Given the description of an element on the screen output the (x, y) to click on. 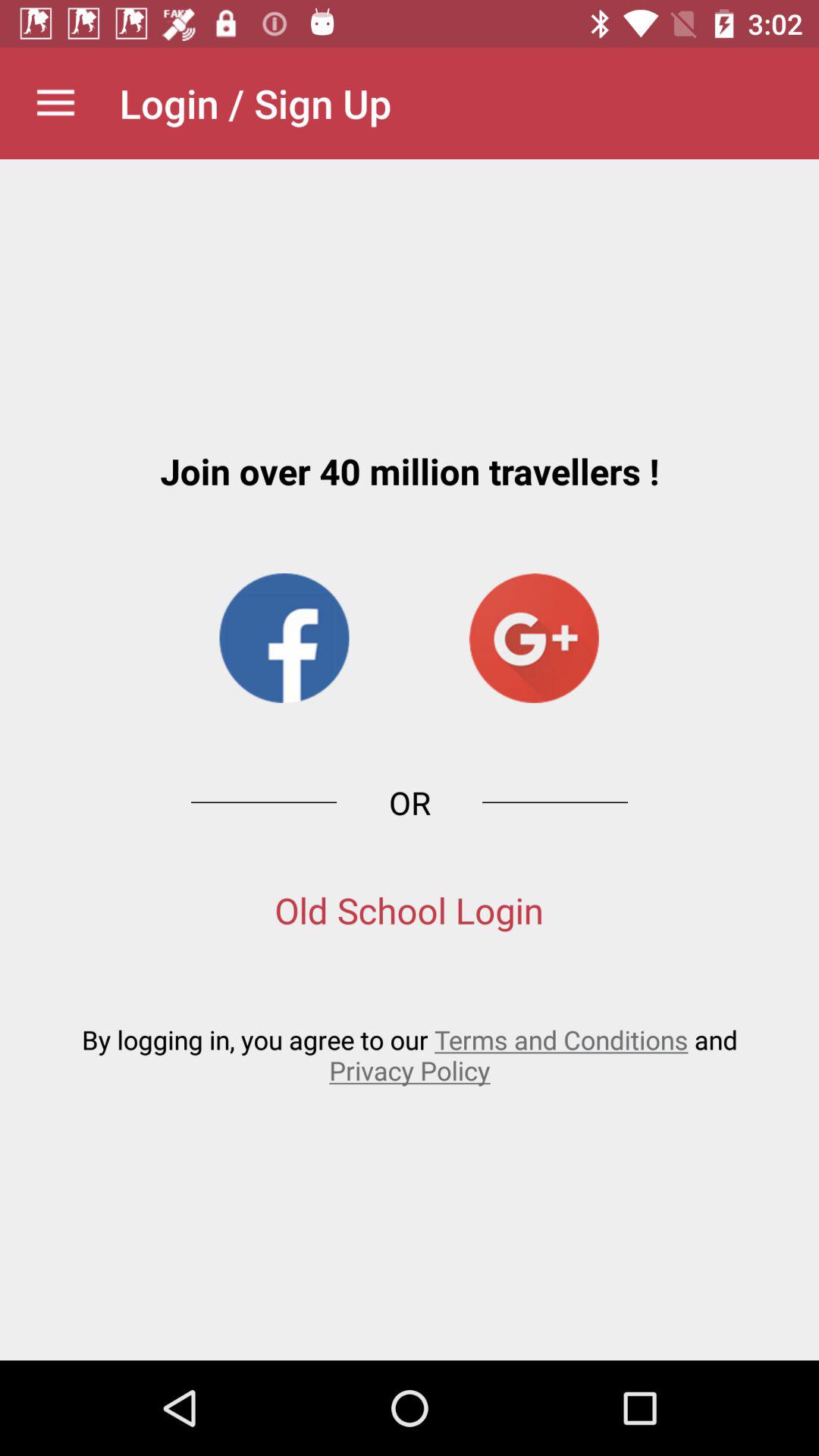
use facebook (284, 637)
